Given the description of an element on the screen output the (x, y) to click on. 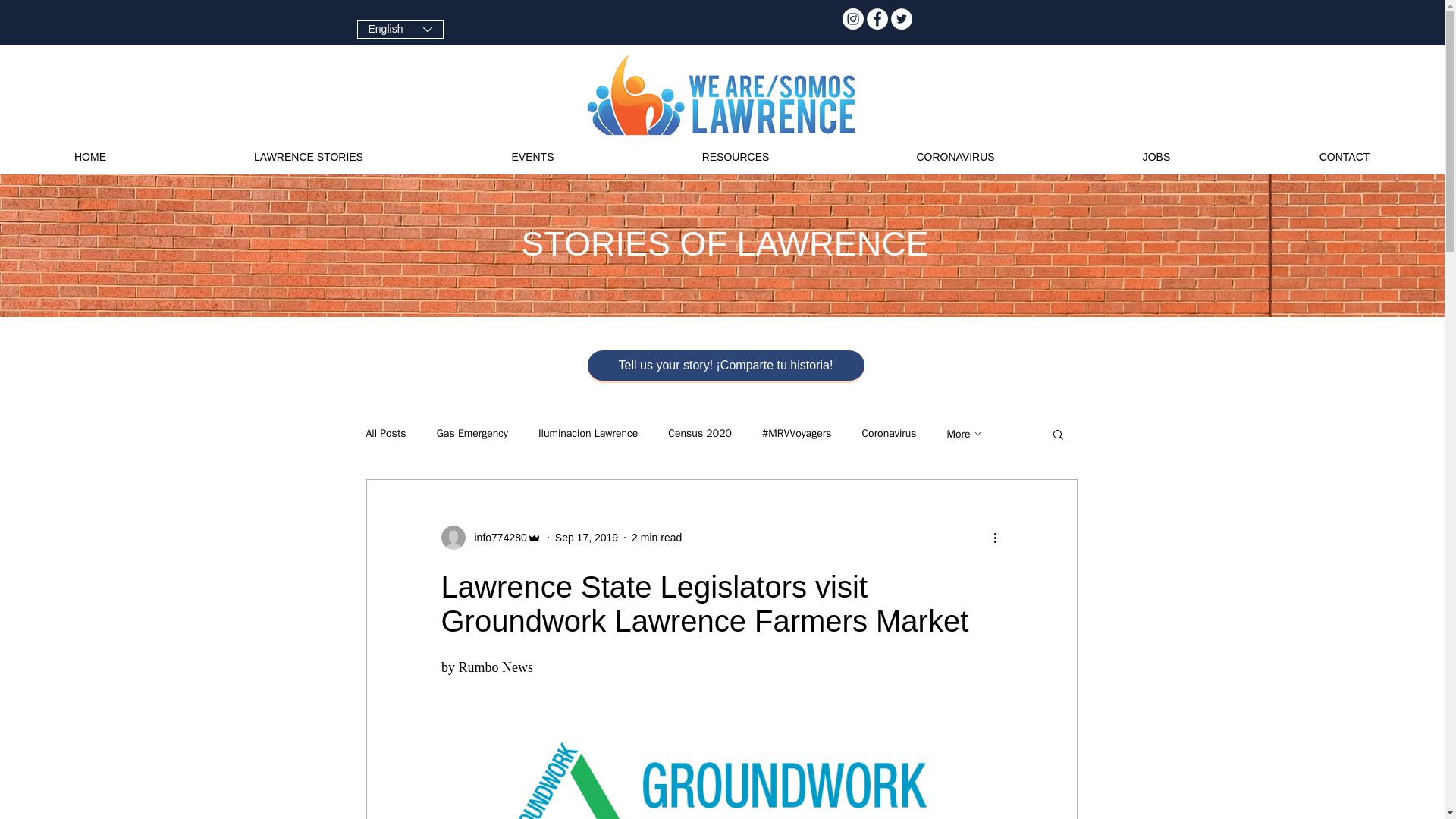
info774280 (496, 537)
JOBS (1156, 157)
HOME (90, 157)
Sep 17, 2019 (585, 536)
CORONAVIRUS (955, 157)
Coronavirus (888, 433)
2 min read (656, 536)
Gas Emergency (472, 433)
LAWRENCE STORIES (308, 157)
All Posts (385, 433)
Iluminacion Lawrence (587, 433)
Census 2020 (700, 433)
EVENTS (532, 157)
